Given the description of an element on the screen output the (x, y) to click on. 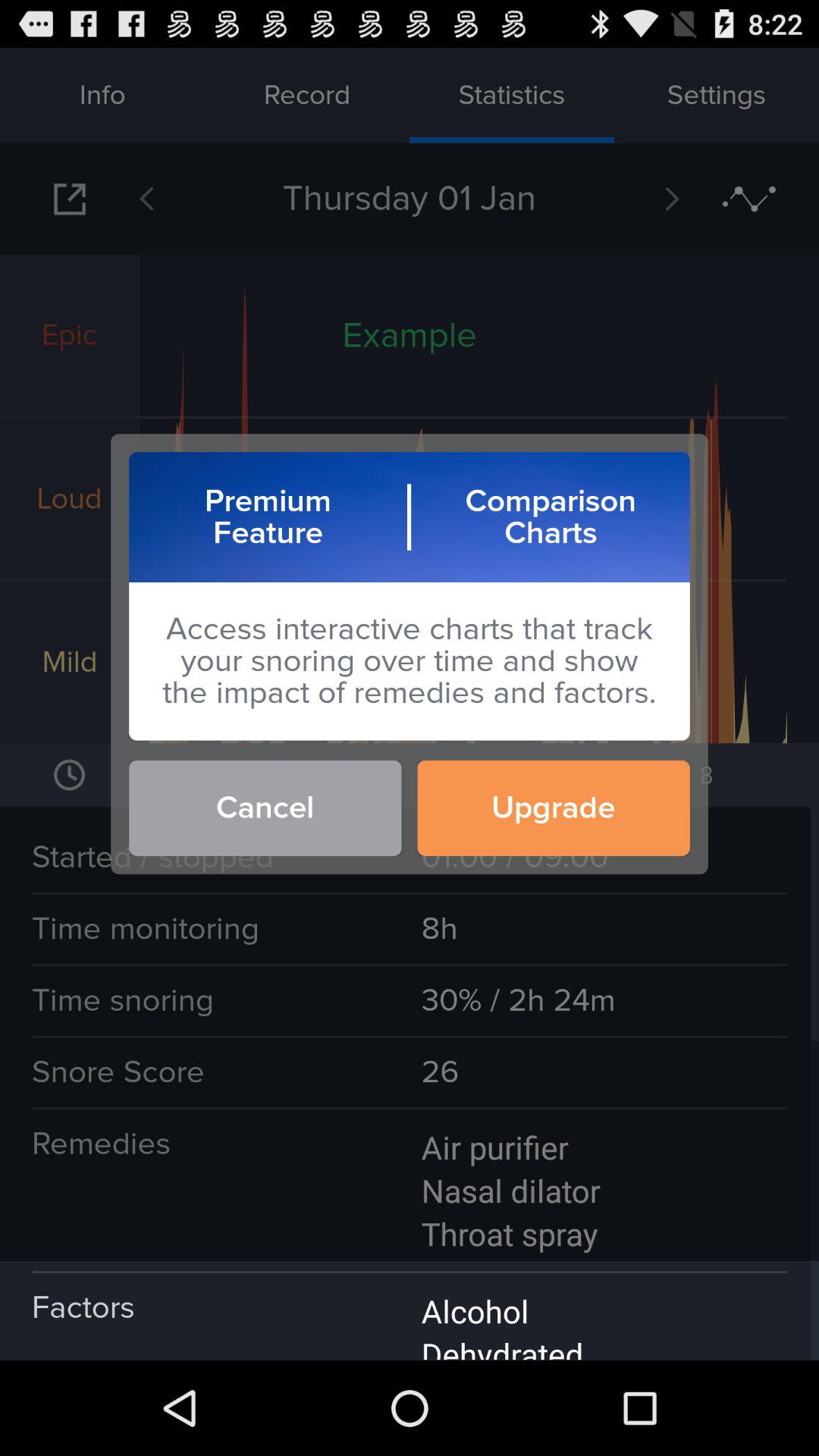
choose button to the right of the cancel icon (553, 807)
